Given the description of an element on the screen output the (x, y) to click on. 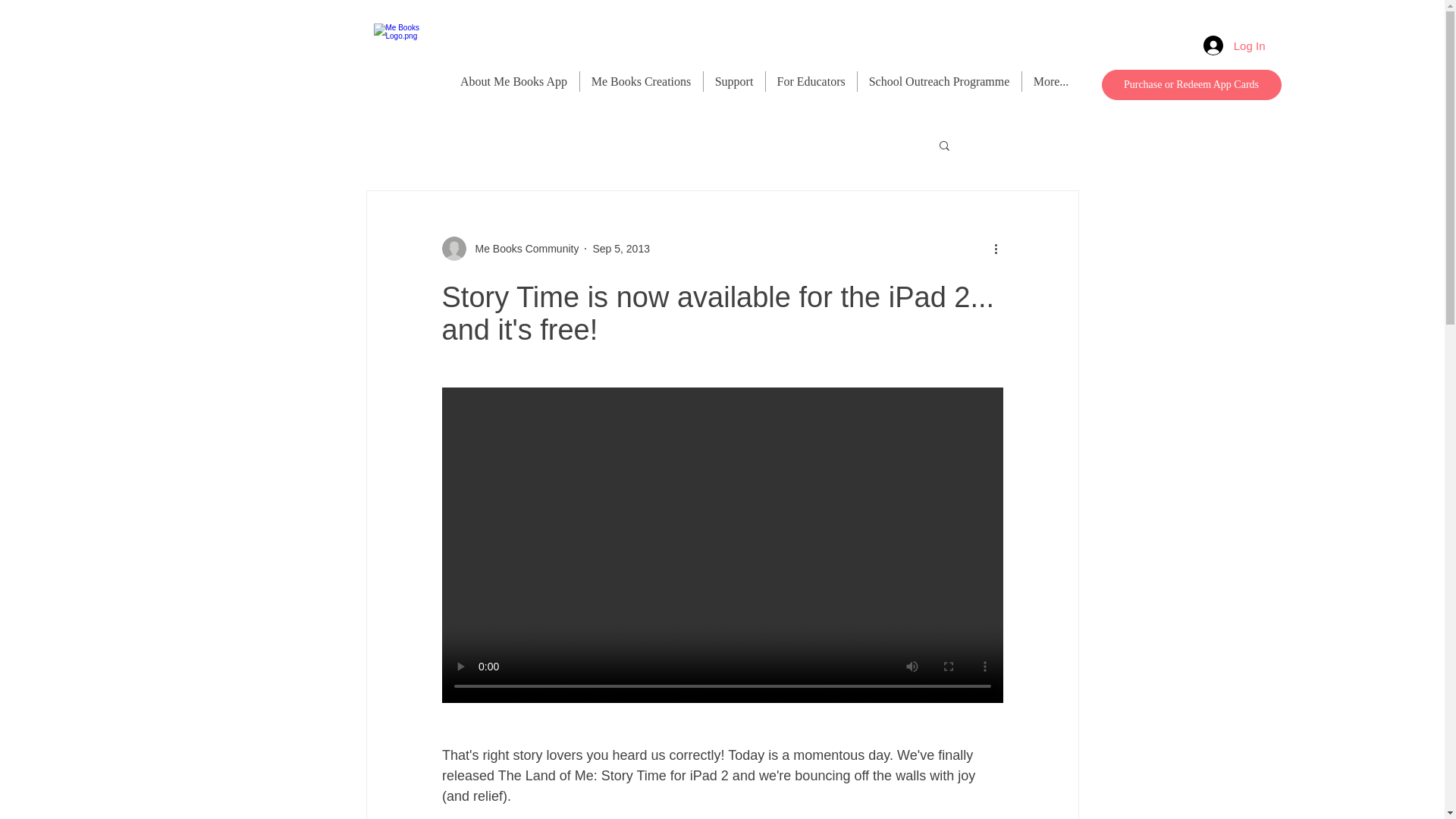
Me Books Community (509, 248)
Me Books Community (521, 248)
School Outreach Programme (938, 81)
Purchase or Redeem App Cards (1190, 84)
Me Books Creations (640, 81)
Support (734, 81)
Sep 5, 2013 (620, 248)
For Educators (811, 81)
Log In (1234, 45)
